Given the description of an element on the screen output the (x, y) to click on. 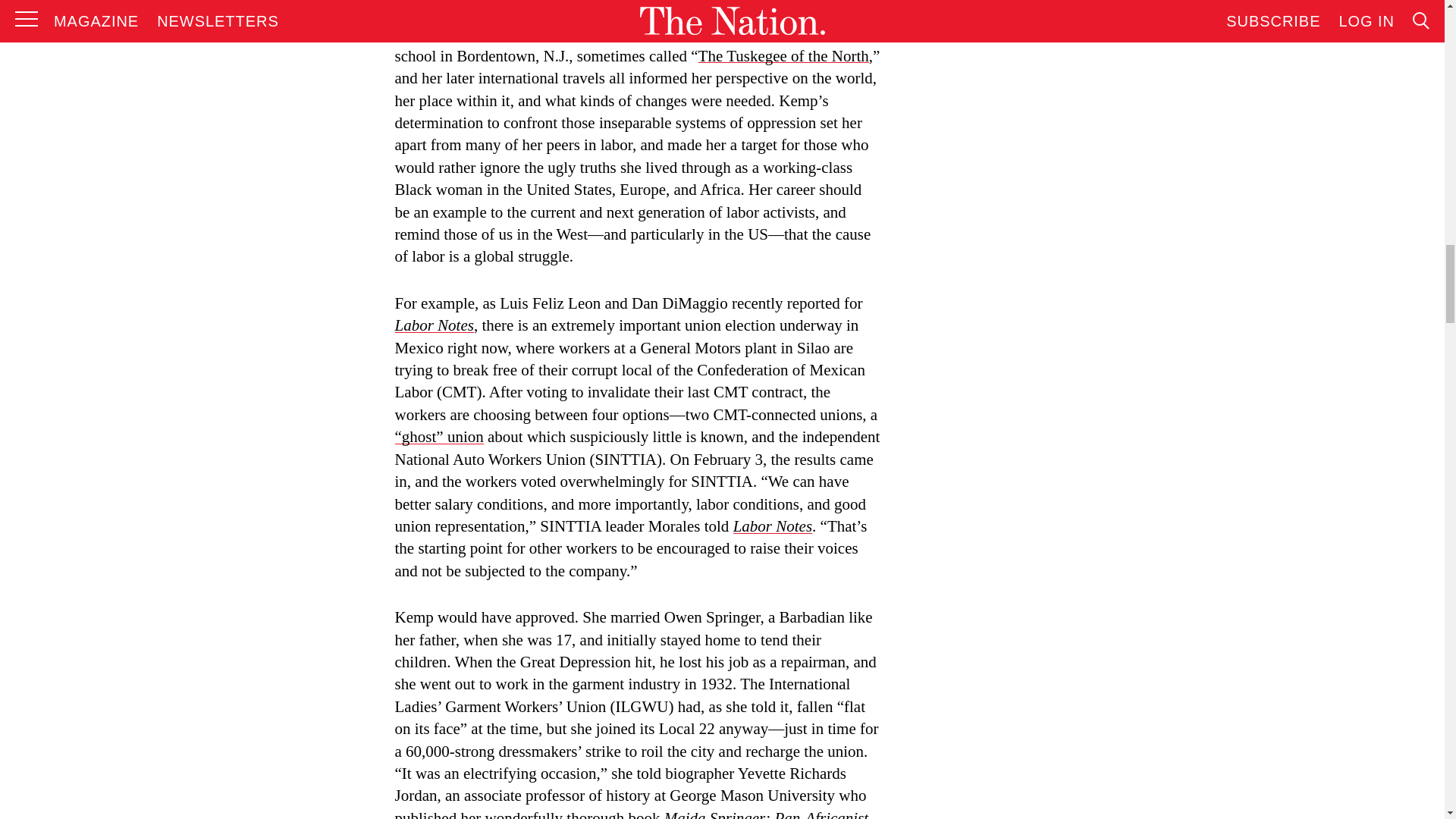
The Tuskegee of the North (783, 55)
